Given the description of an element on the screen output the (x, y) to click on. 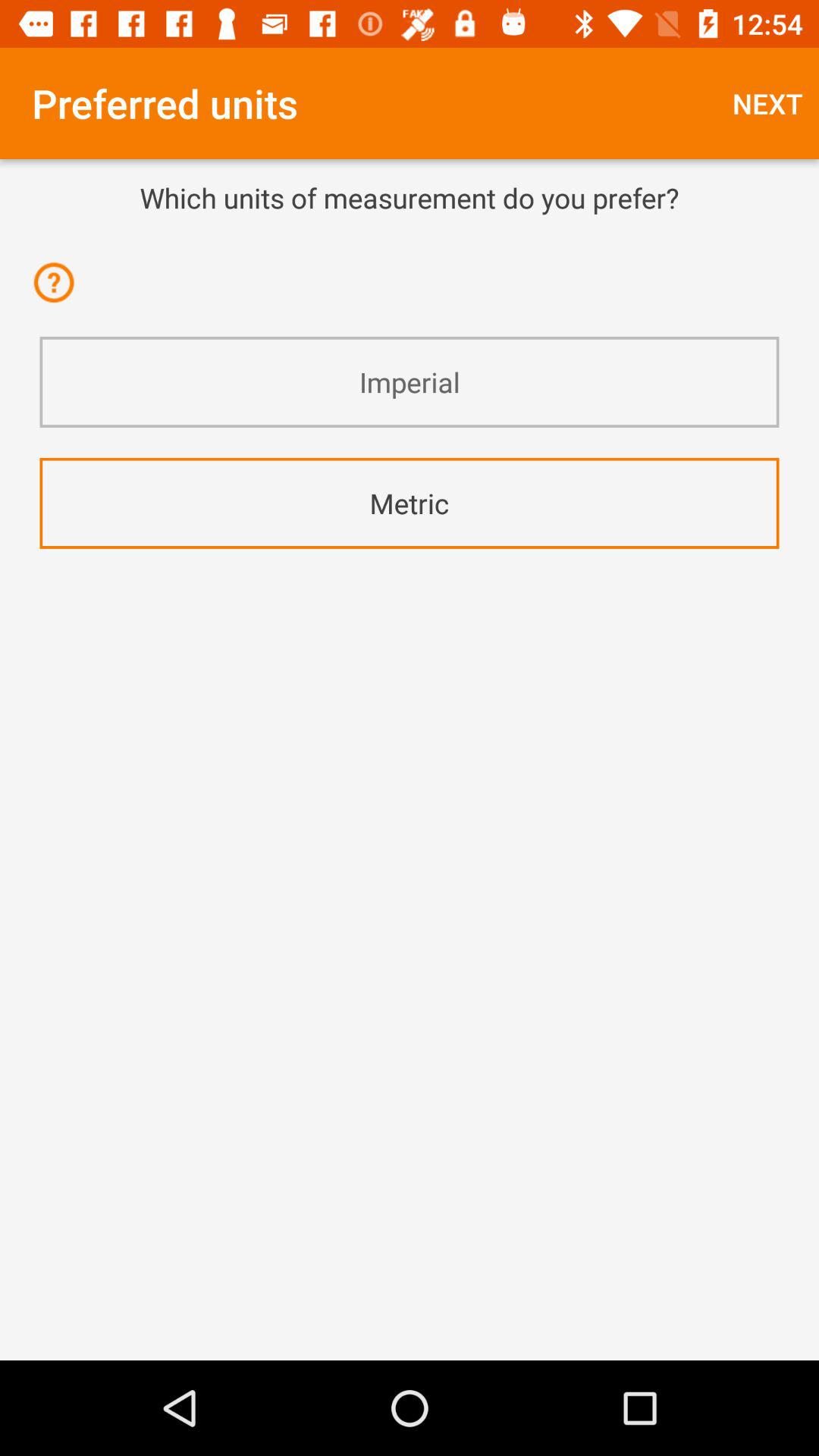
flip to the imperial (409, 381)
